Given the description of an element on the screen output the (x, y) to click on. 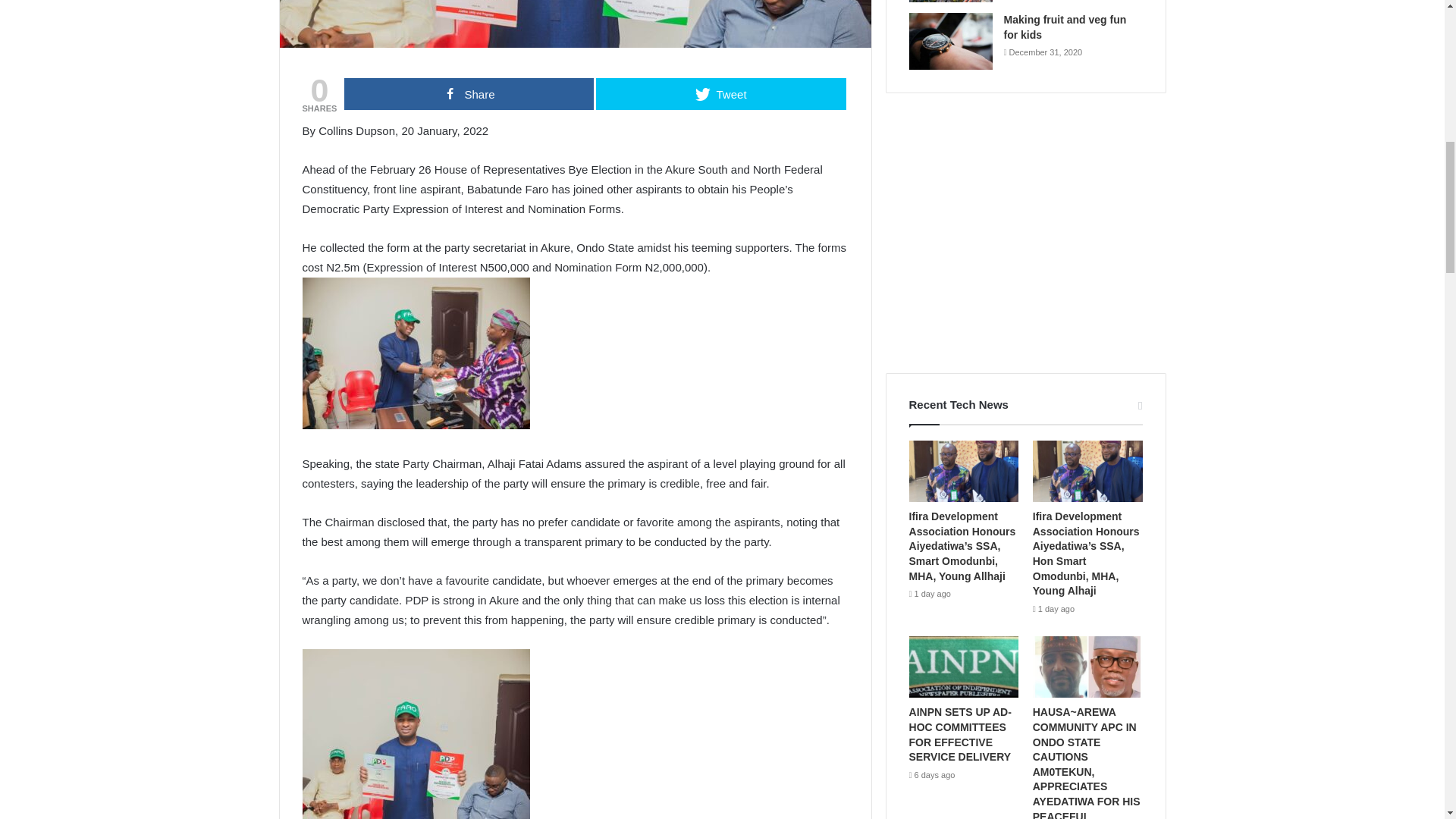
Share (468, 93)
Tweet (720, 93)
